Given the description of an element on the screen output the (x, y) to click on. 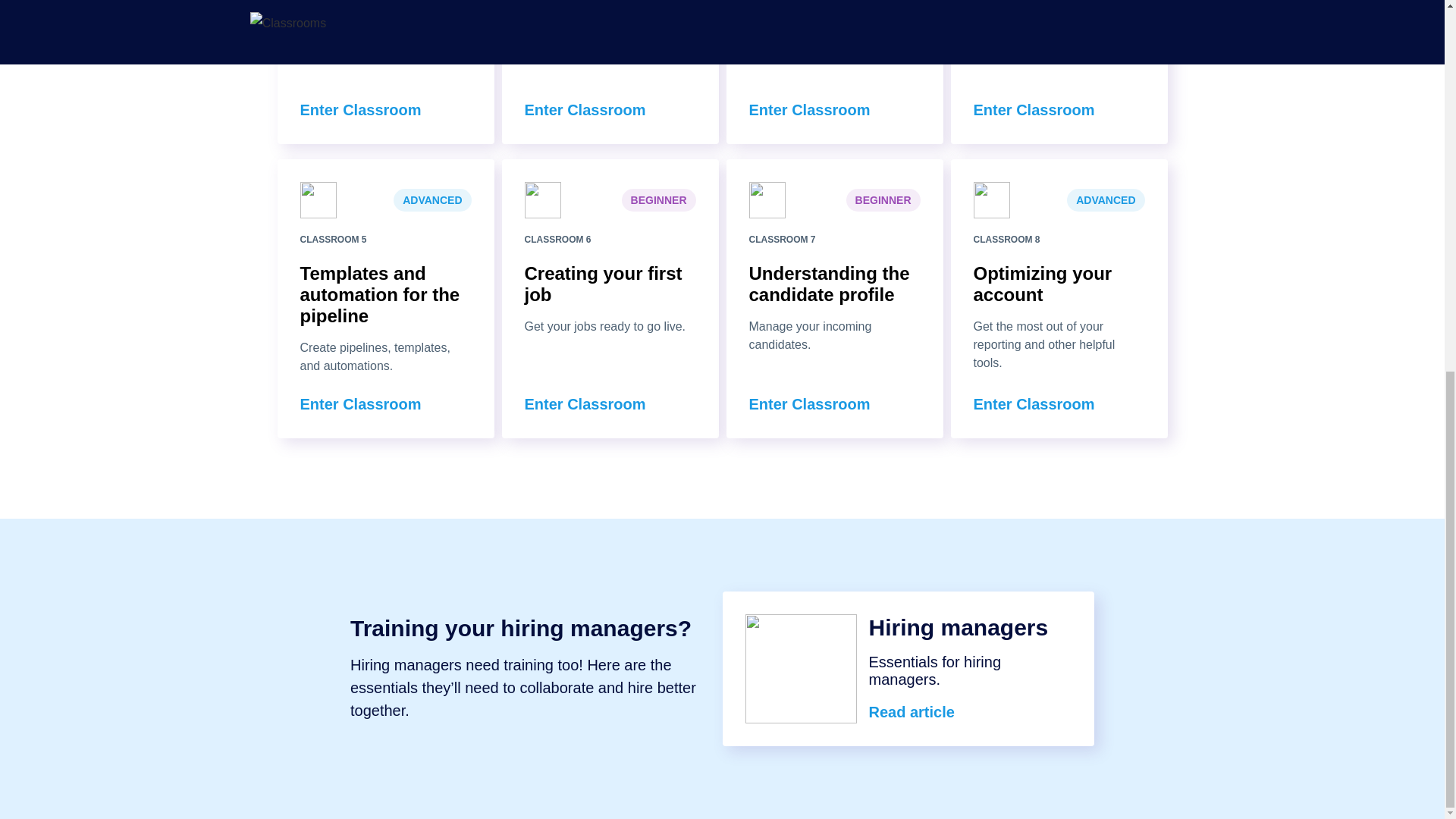
Read article (914, 712)
